Given the description of an element on the screen output the (x, y) to click on. 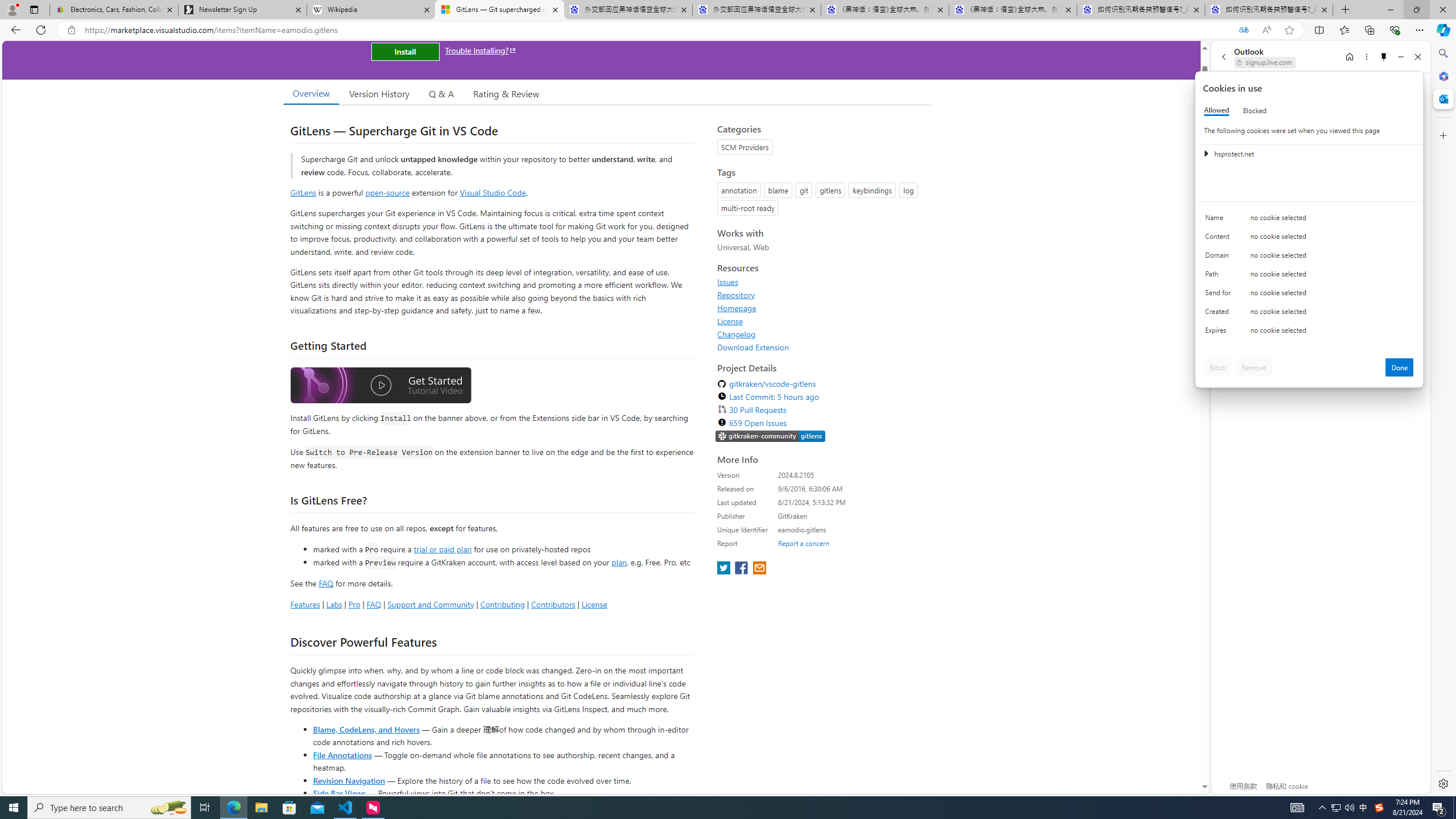
open-source (387, 192)
Electronics, Cars, Fashion, Collectibles & More | eBay (114, 9)
Support and Community (430, 603)
